Given the description of an element on the screen output the (x, y) to click on. 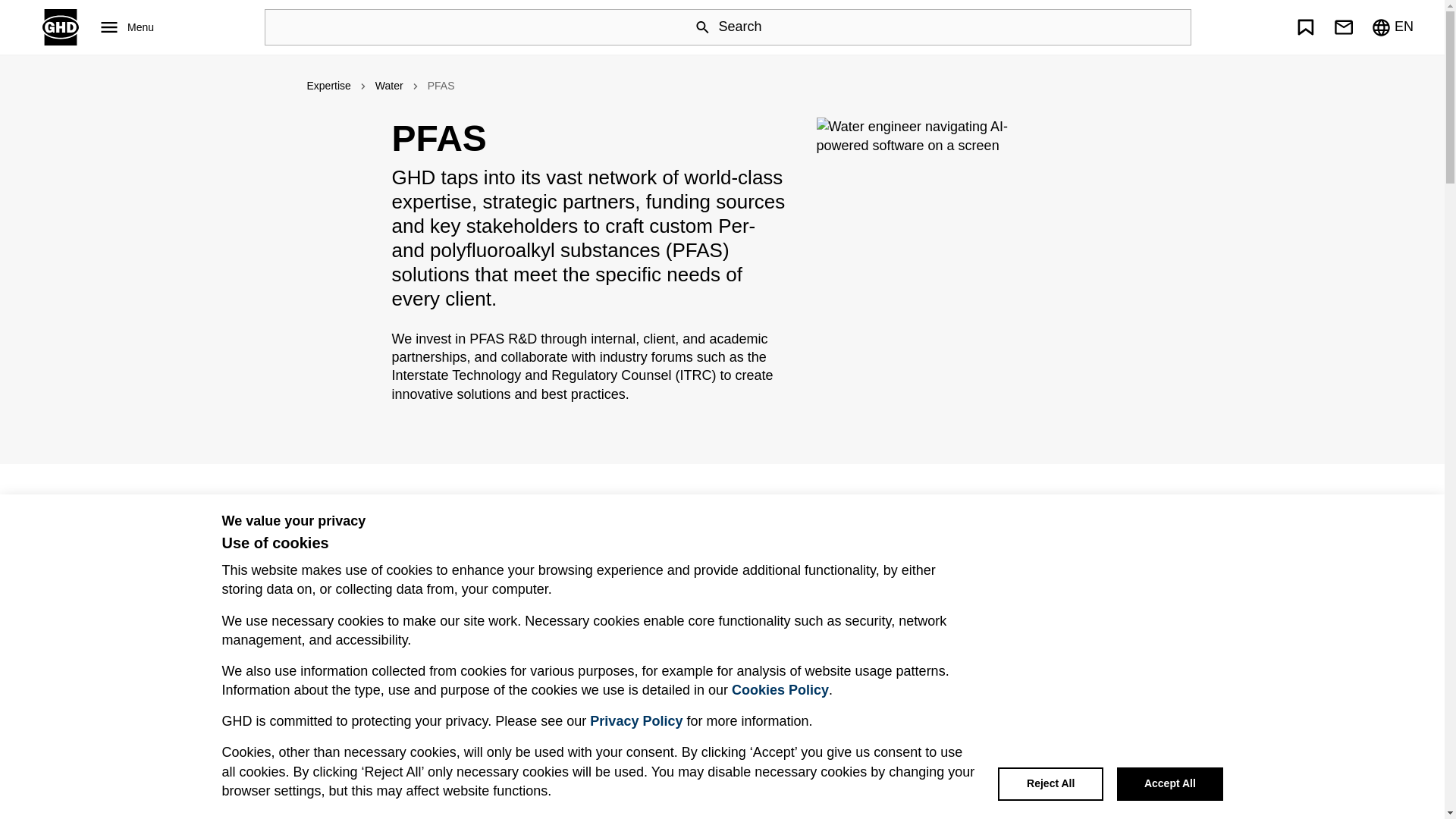
Menu (123, 27)
Expertise (327, 85)
Water (389, 85)
EN (1392, 27)
GHD (60, 27)
PFAS (441, 85)
Contact Us (1342, 27)
Skip Navigation (727, 10)
